Given the description of an element on the screen output the (x, y) to click on. 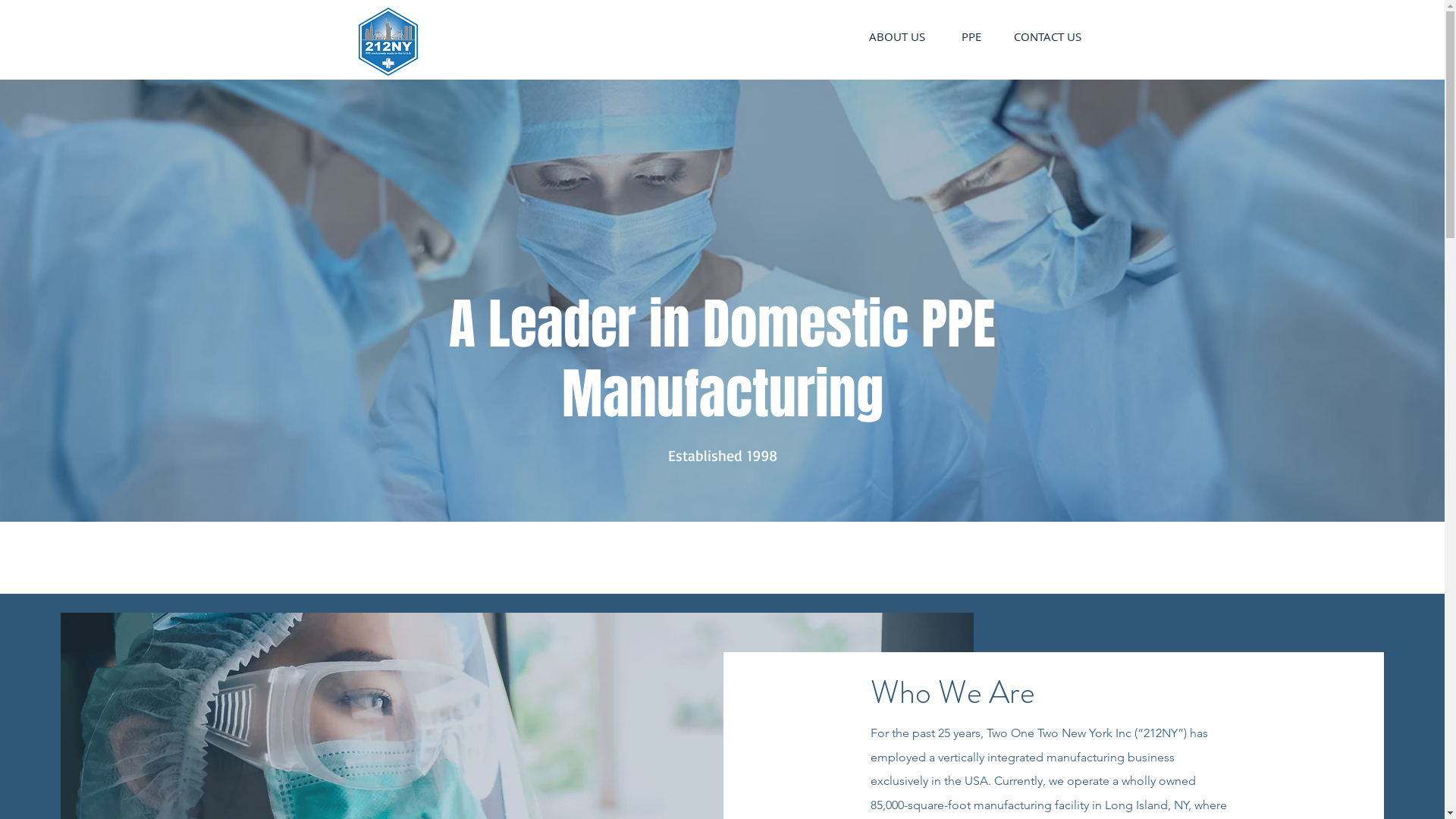
Picture2.png Element type: hover (387, 41)
PPE Element type: text (970, 36)
CONTACT US Element type: text (1047, 36)
ABOUT US Element type: text (897, 36)
